Given the description of an element on the screen output the (x, y) to click on. 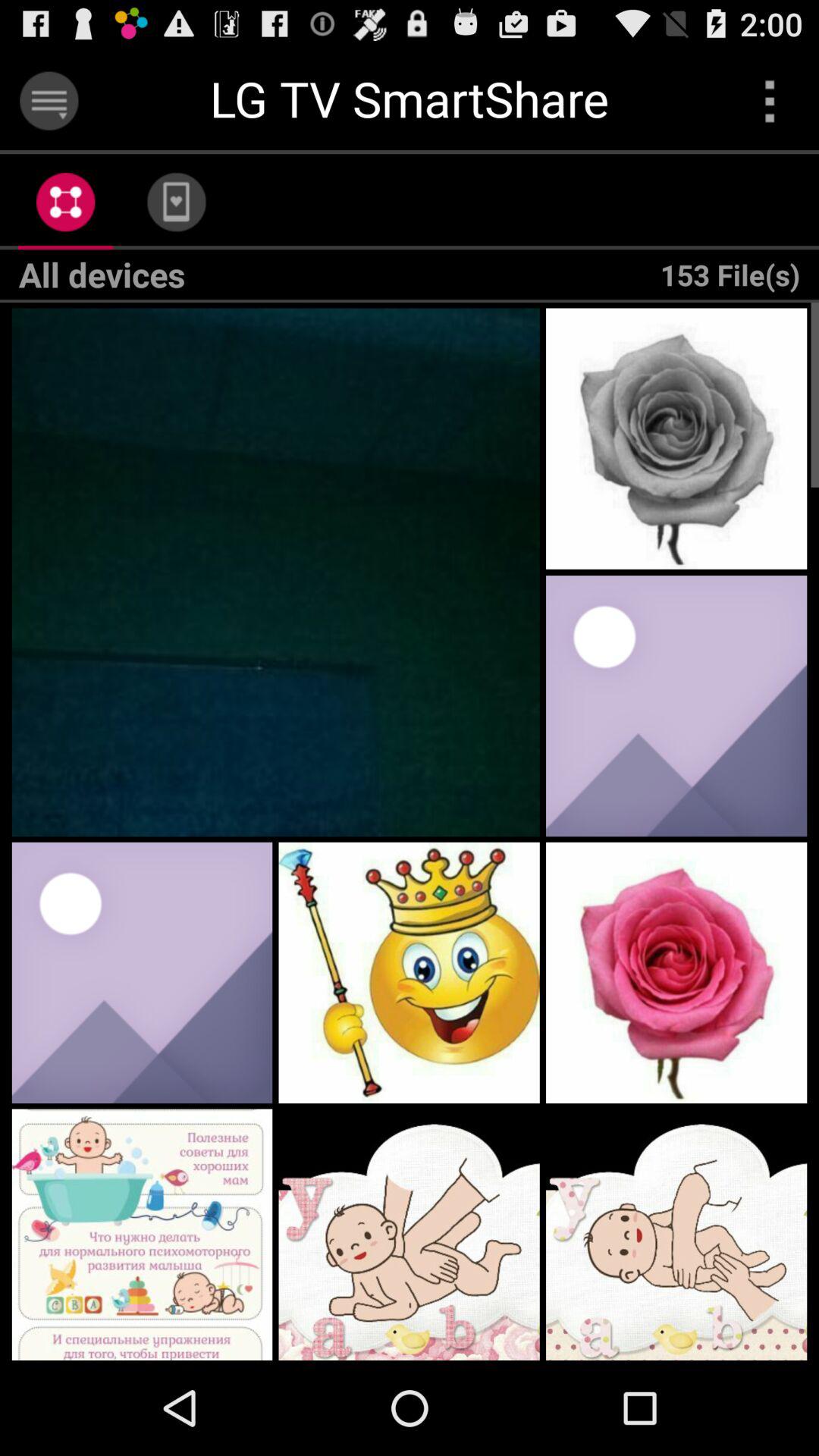
toggle more options (769, 100)
